Given the description of an element on the screen output the (x, y) to click on. 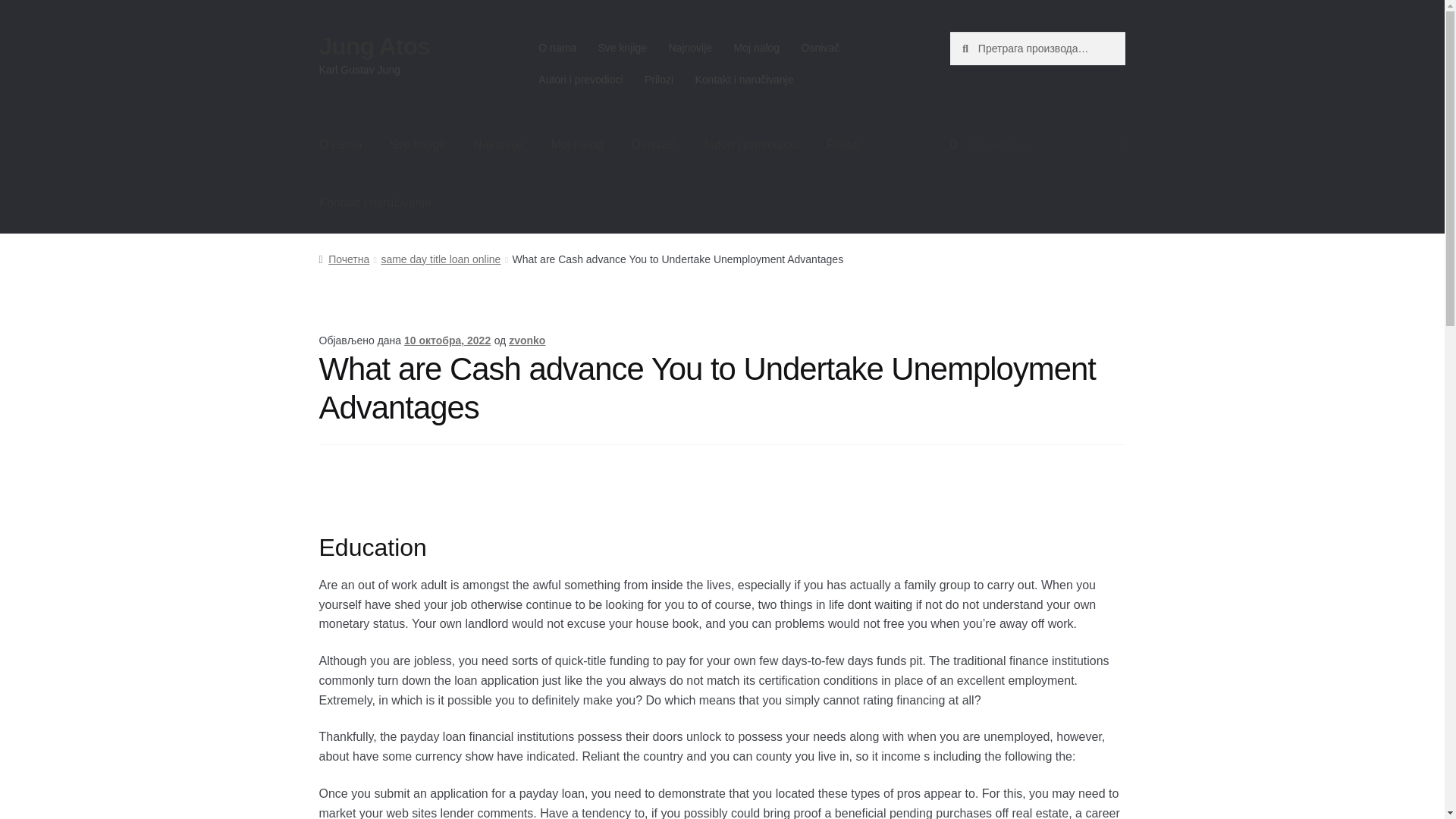
Moj nalog (576, 144)
Najnovije (498, 144)
Jung Atos (373, 45)
O nama (340, 144)
Prilozi (842, 144)
Najnovije (689, 47)
zvonko (526, 340)
Sve knjige (417, 144)
Autori i prevodioci (750, 144)
Autori i prevodioci (580, 79)
Moj nalog (756, 47)
same day title loan online (440, 259)
Sve knjige (622, 47)
O nama (557, 47)
Prilozi (658, 79)
